Given the description of an element on the screen output the (x, y) to click on. 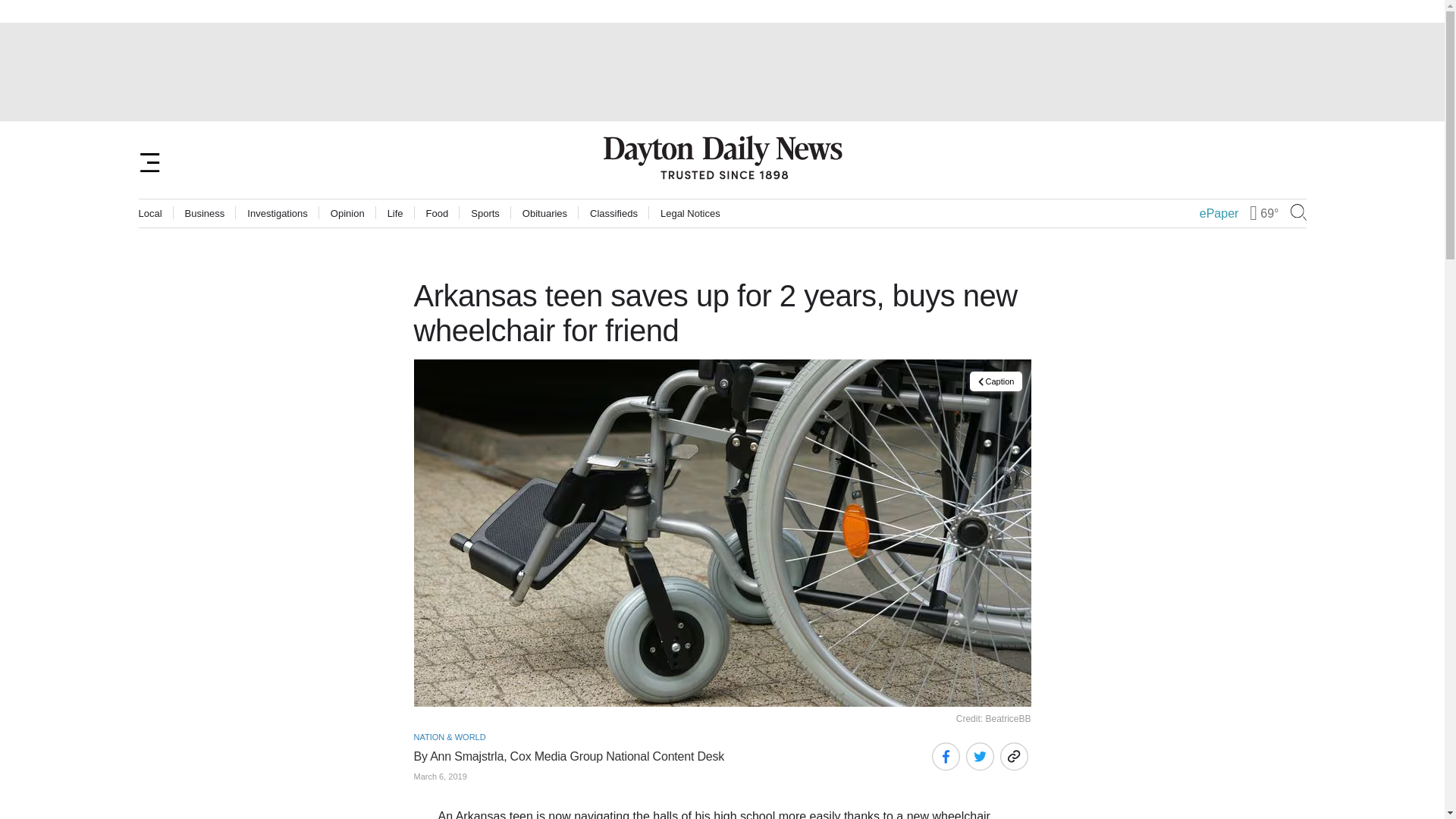
Business (204, 213)
Legal Notices (690, 213)
Sports (484, 213)
Life (395, 213)
Classifieds (613, 213)
Investigations (277, 213)
Opinion (347, 213)
Obituaries (544, 213)
Local (149, 213)
